Given the description of an element on the screen output the (x, y) to click on. 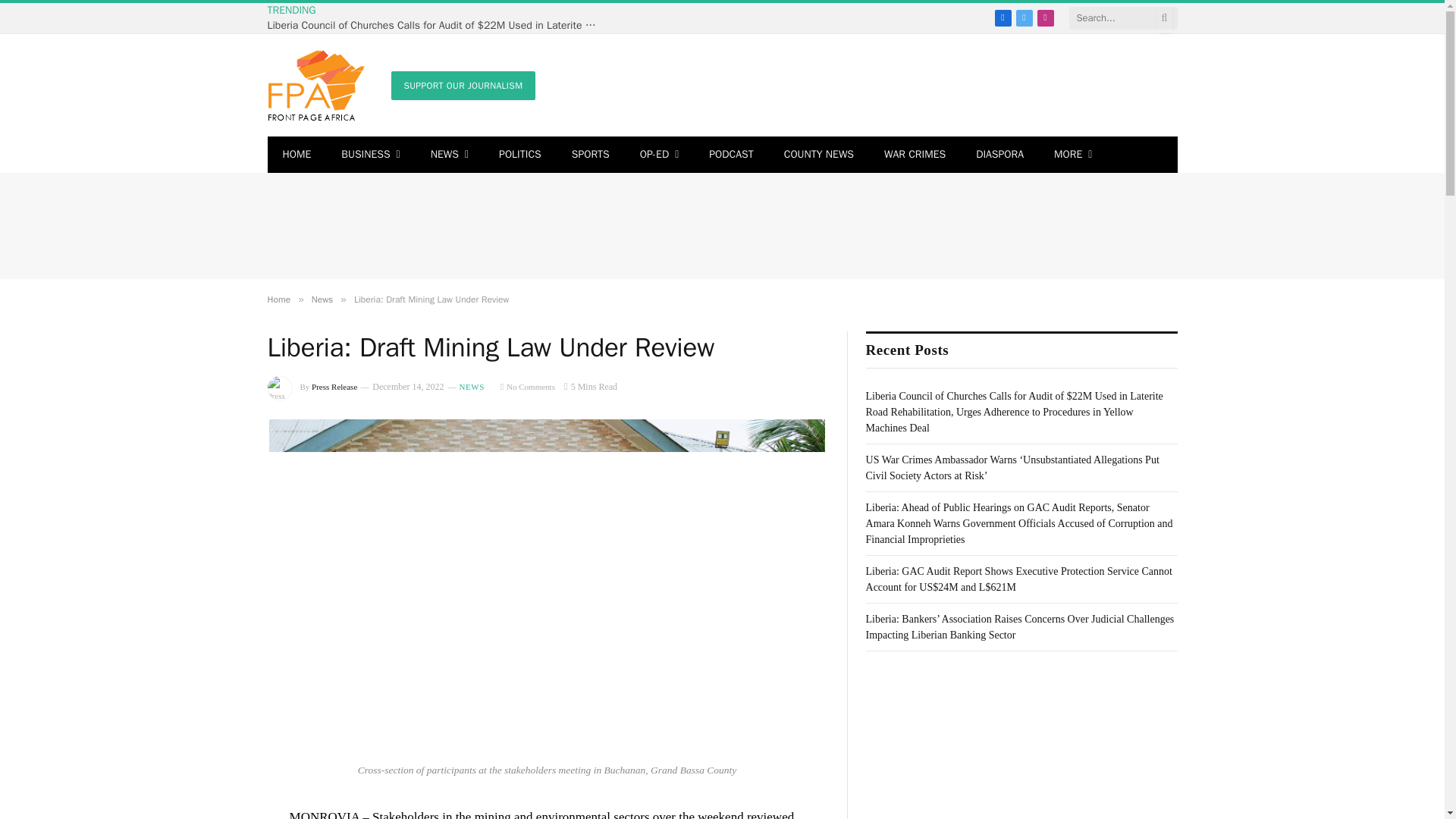
HOME (296, 154)
OP-ED (659, 154)
SUPPORT OUR JOURNALISM (463, 85)
POLITICS (519, 154)
NEWS (448, 154)
Facebook (1002, 17)
Posts by Press Release (333, 386)
Instagram (1045, 17)
SPORTS (590, 154)
BUSINESS (370, 154)
FrontPageAfrica (315, 85)
